Given the description of an element on the screen output the (x, y) to click on. 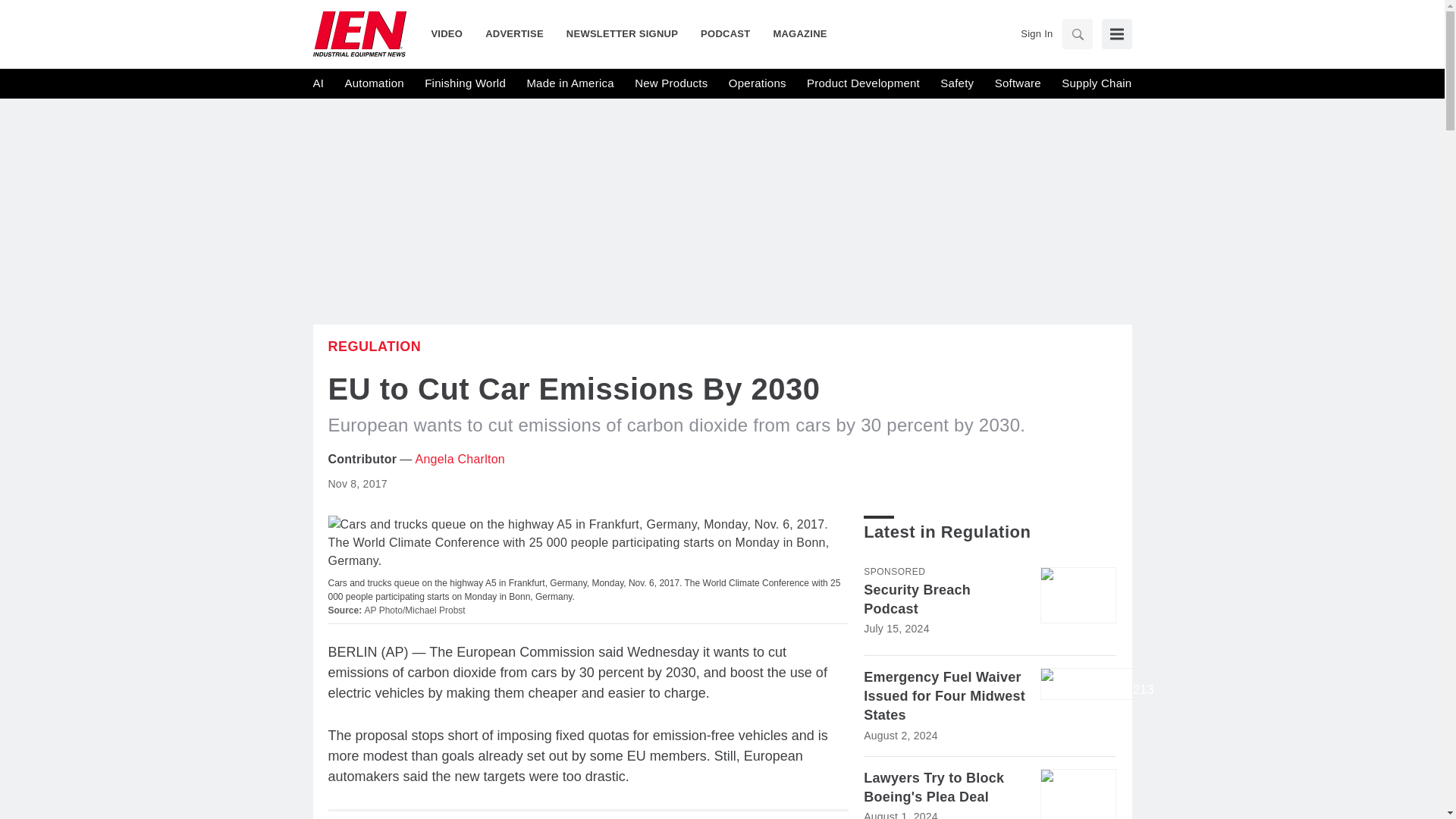
Regulation (373, 346)
PODCAST (724, 33)
ADVERTISE (514, 33)
MAGAZINE (794, 33)
Product Development (863, 83)
New Products (670, 83)
Safety (957, 83)
VIDEO (452, 33)
Finishing World (465, 83)
Made in America (568, 83)
Sign In (1036, 33)
Sponsored (893, 571)
NEWSLETTER SIGNUP (621, 33)
Automation (373, 83)
Supply Chain (1096, 83)
